Given the description of an element on the screen output the (x, y) to click on. 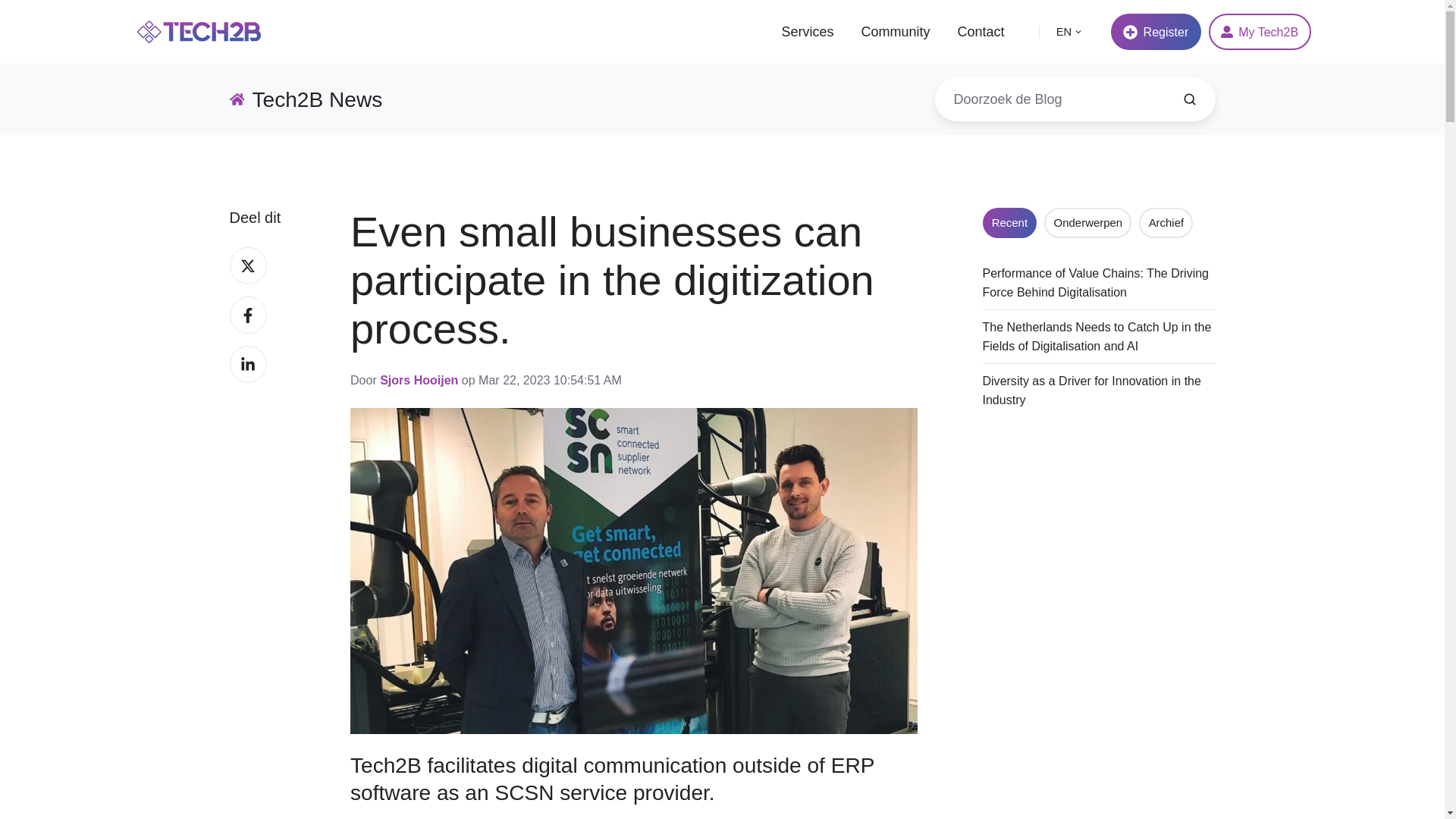
EN (1070, 31)
My Tech2B (1259, 31)
Doorzoek de Blog (1189, 99)
Services (806, 31)
Delen op Facebook (247, 314)
Contact (980, 31)
Delen op Twitter (247, 265)
tech2b-logo-colored-320x60-3 (198, 31)
Community (895, 31)
Register (1155, 31)
